Given the description of an element on the screen output the (x, y) to click on. 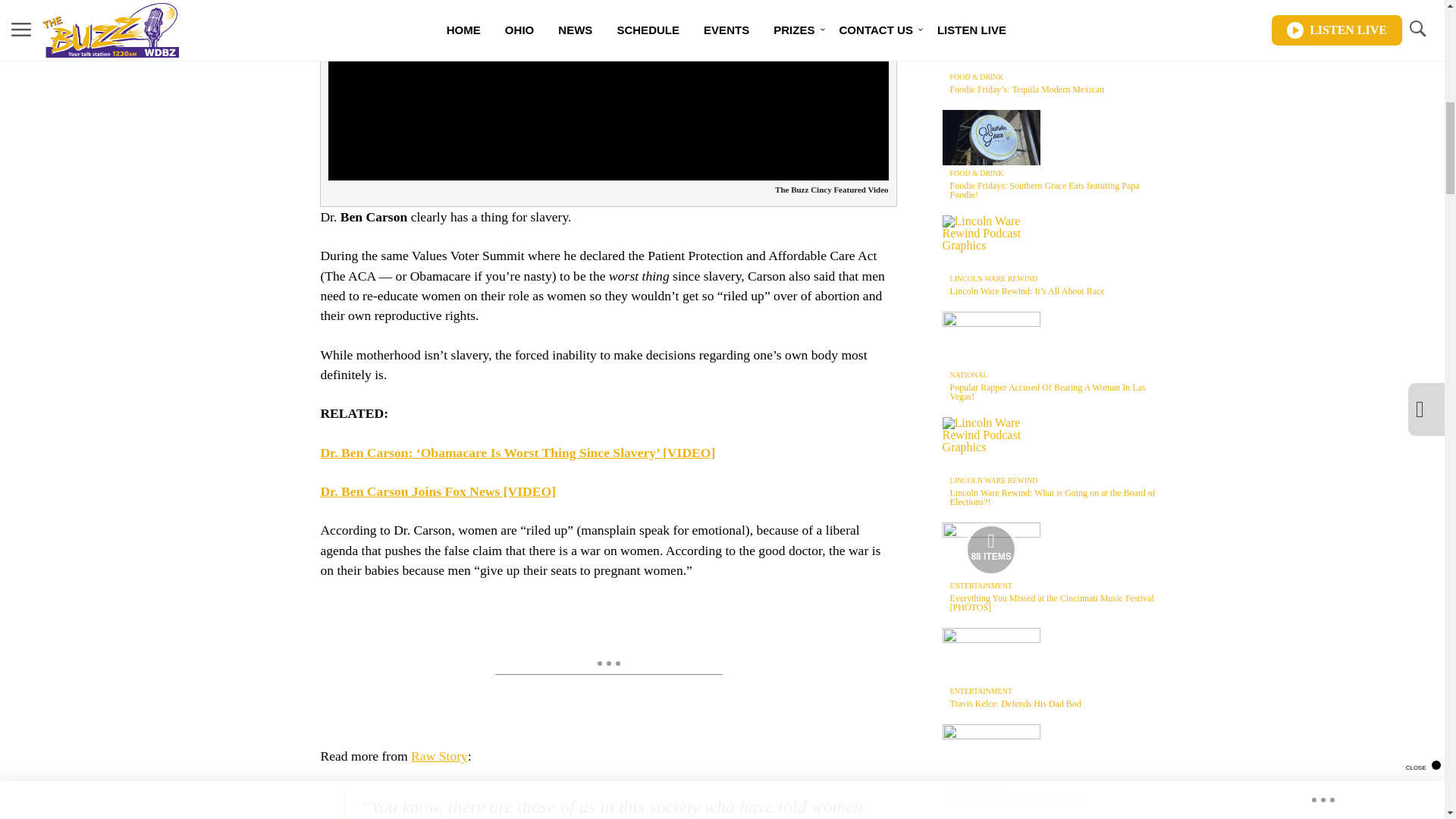
Raw Story (438, 755)
Media Playlist (990, 549)
